Given the description of an element on the screen output the (x, y) to click on. 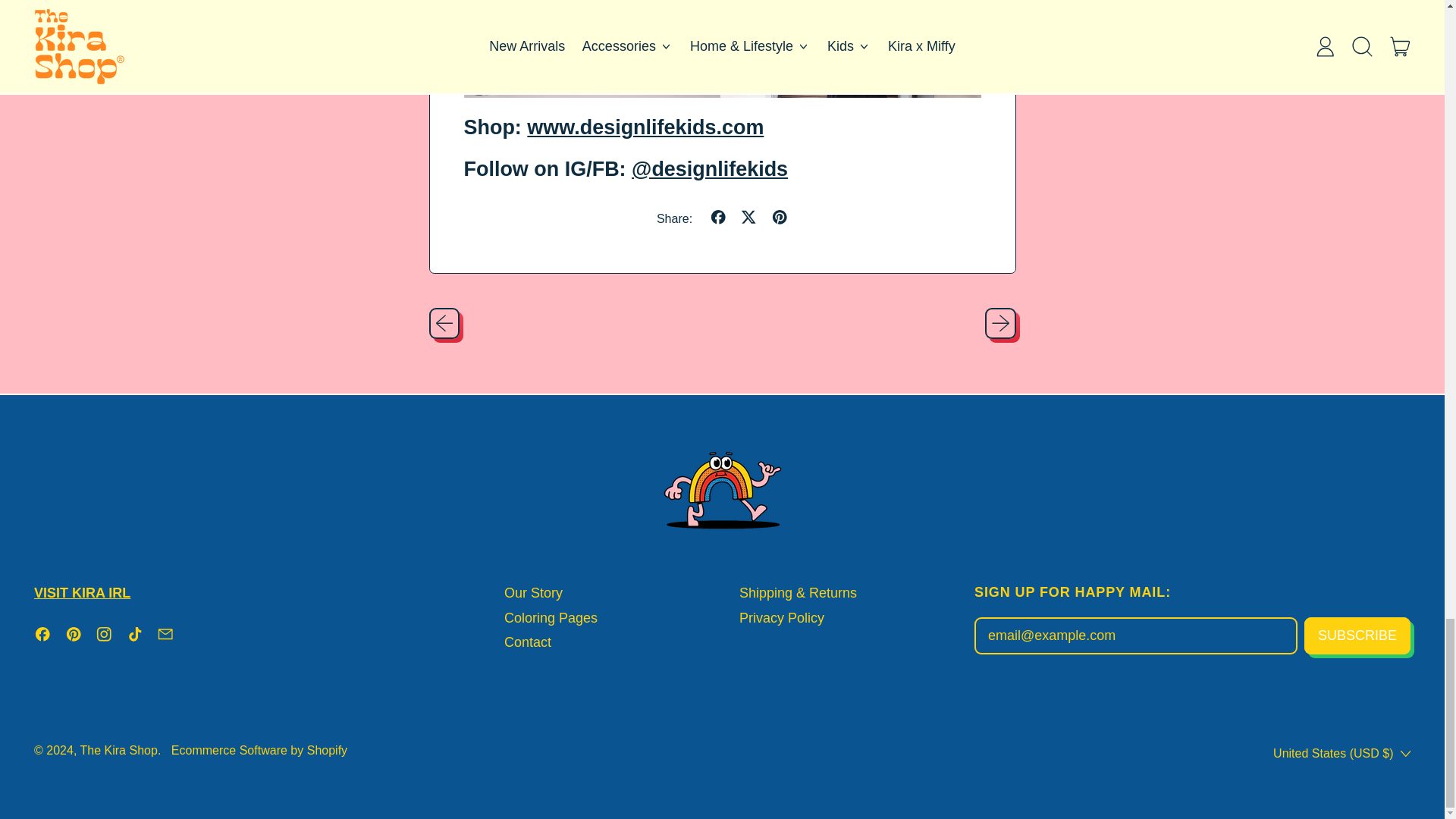
Pinterest (73, 637)
VISIT KIRA IRL (82, 592)
Pin on Pinterest (779, 218)
Share on Facebook (718, 218)
Facebook (41, 637)
www.designlifekids.com (644, 127)
Visit Us IRL (82, 592)
